Given the description of an element on the screen output the (x, y) to click on. 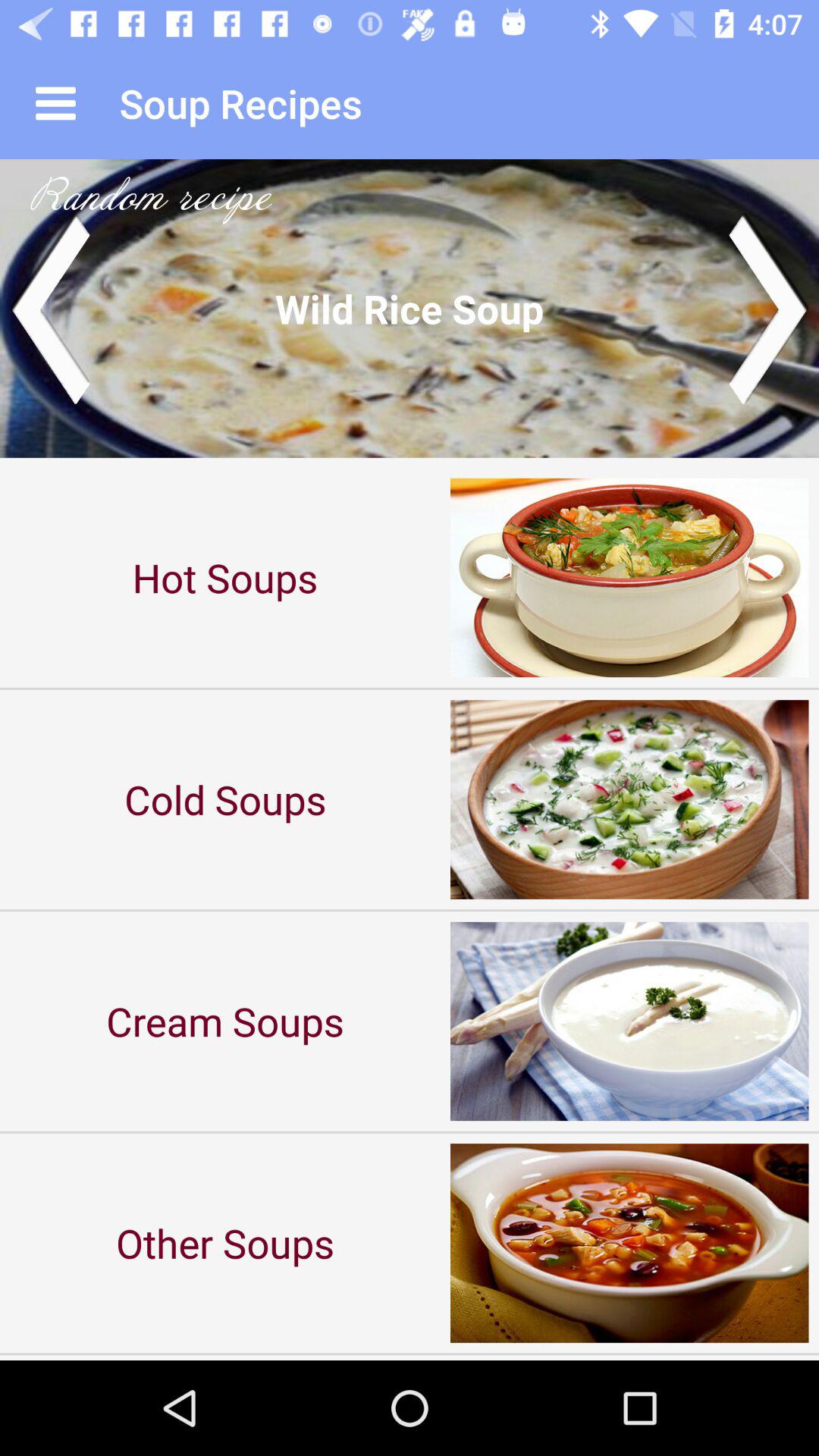
turn off other soups icon (225, 1242)
